Given the description of an element on the screen output the (x, y) to click on. 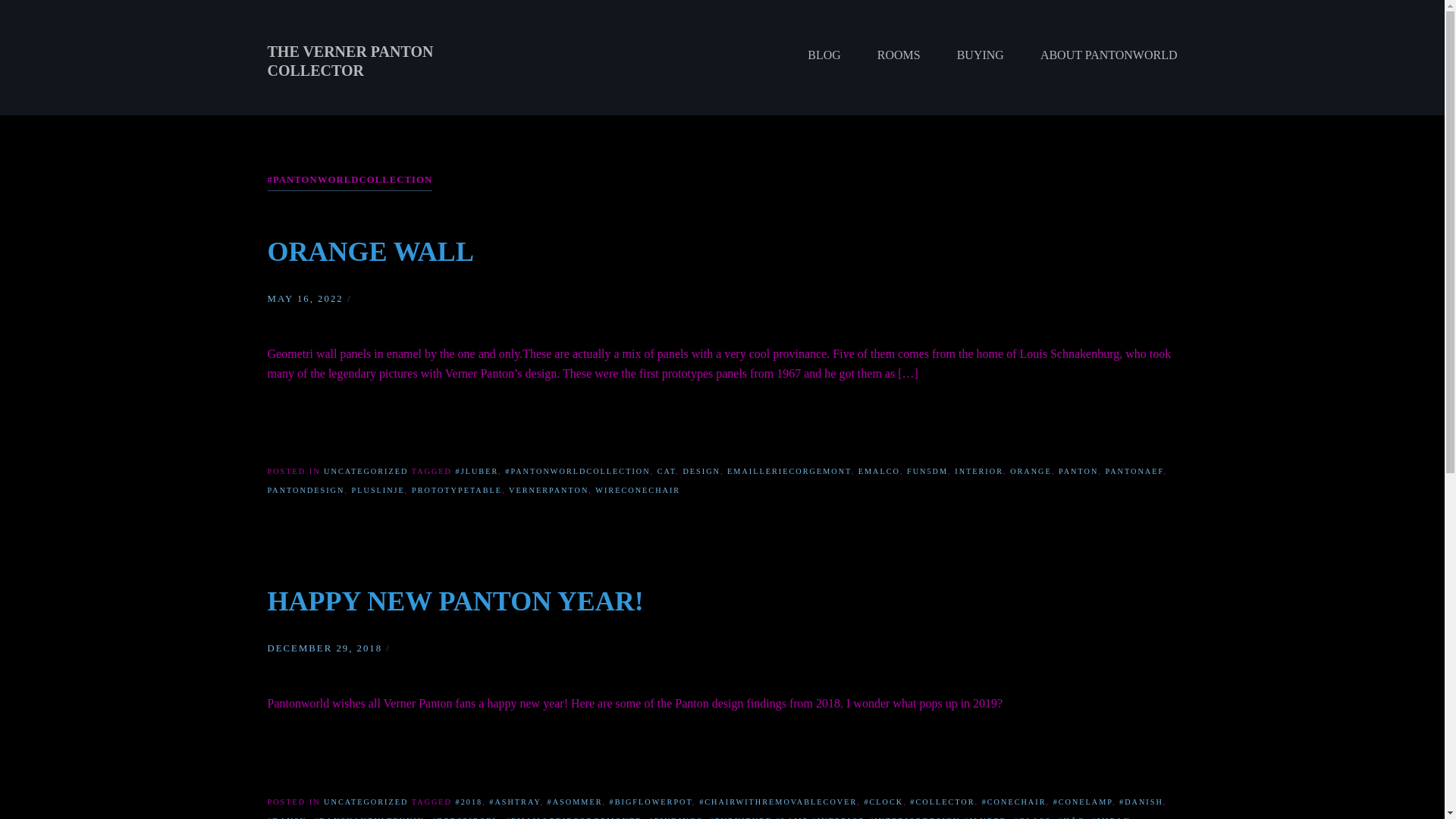
BUYING (980, 55)
PROTOTYPETABLE (457, 490)
EMAILLERIECORGEMONT (788, 470)
HAPPY NEW PANTON YEAR! (454, 601)
PANTONAEF (1134, 470)
PLUSLINJE (378, 490)
FUN5DM (927, 470)
ABOUT PANTONWORLD (1099, 55)
ORANGE WALL (369, 251)
THE VERNER PANTON COLLECTOR (349, 60)
WIRECONECHAIR (637, 490)
ORANGE (1030, 470)
ROOMS (899, 55)
DESIGN (701, 470)
INTERIOR (979, 470)
